Given the description of an element on the screen output the (x, y) to click on. 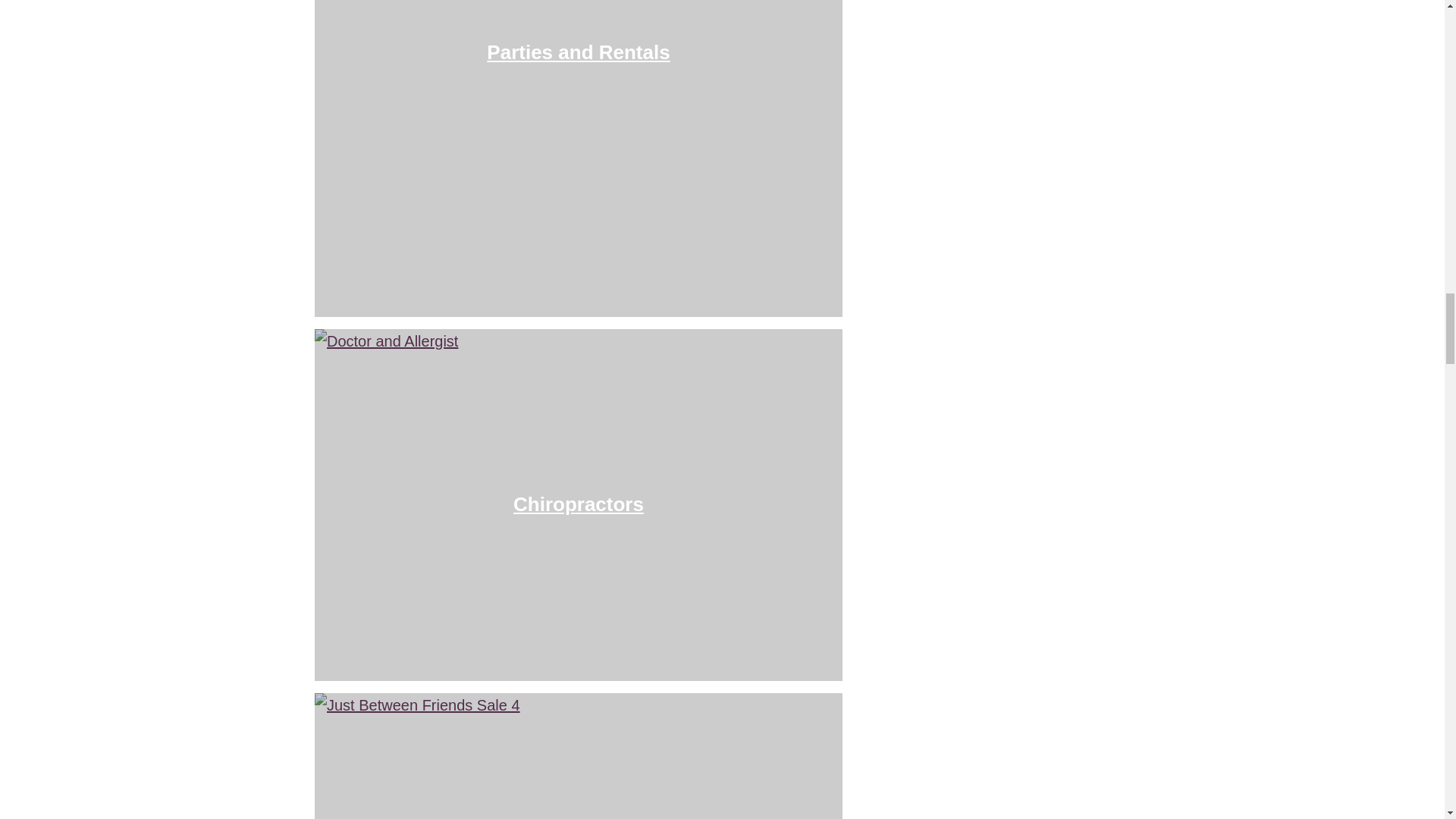
Parties and Rentals (577, 51)
